Given the description of an element on the screen output the (x, y) to click on. 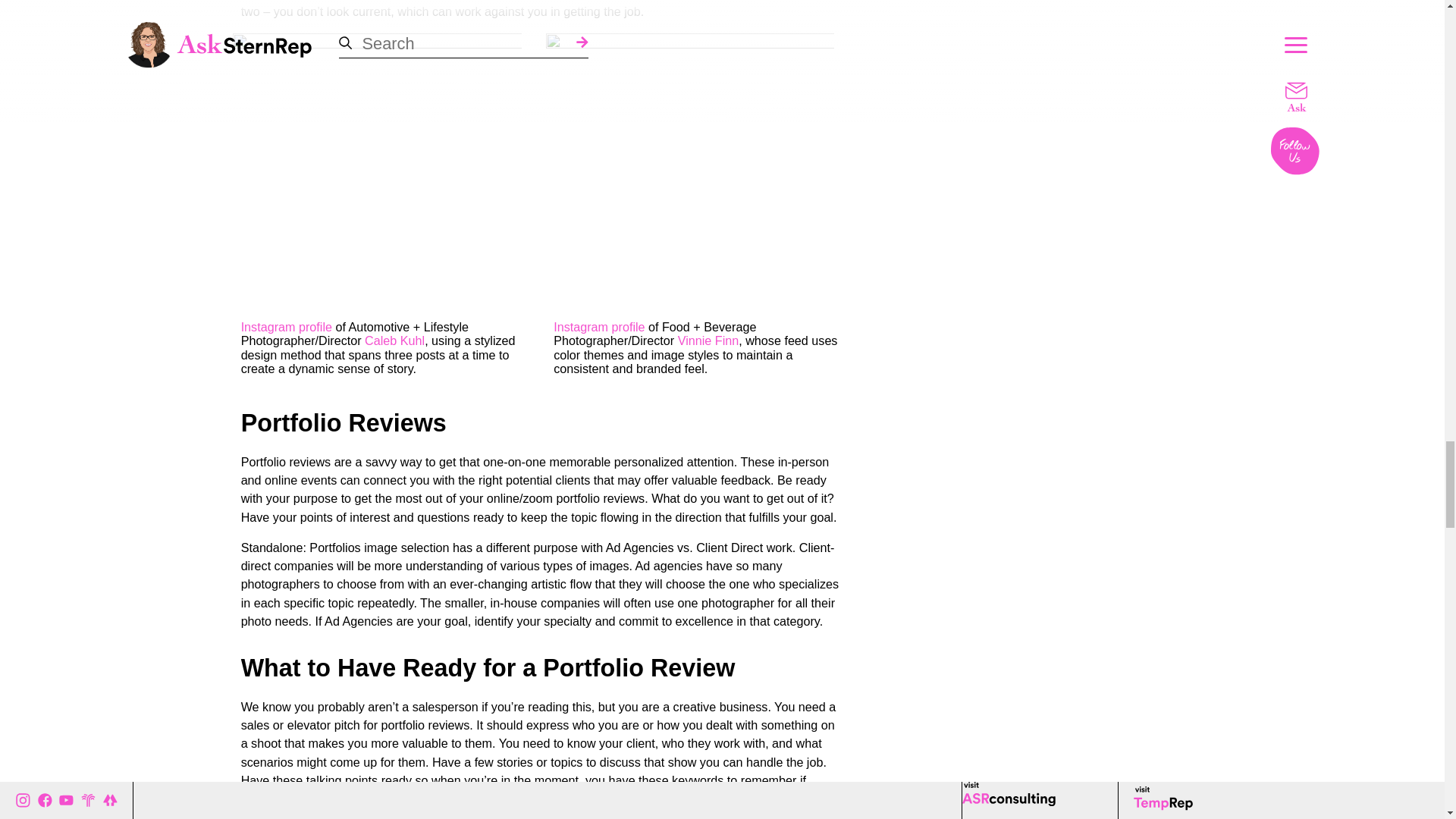
Instagram profile (286, 326)
Caleb Kuhl (395, 340)
Vinnie Finn (708, 340)
Instagram profile (599, 326)
